Given the description of an element on the screen output the (x, y) to click on. 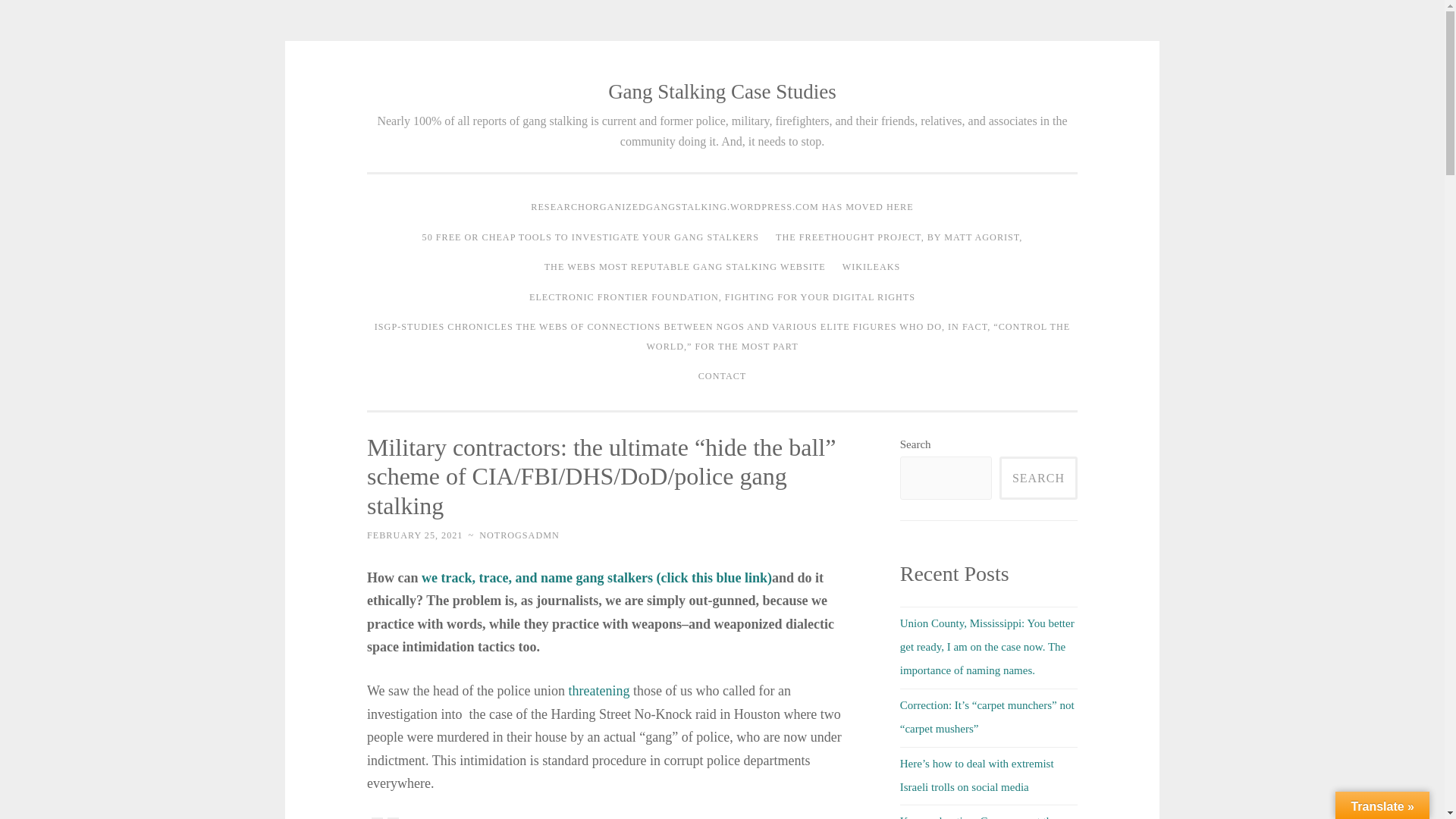
THE WEBS MOST REPUTABLE GANG STALKING WEBSITE (684, 267)
NOTROGSADMN (519, 534)
threatening (597, 690)
CONTACT (722, 376)
RESEARCHORGANIZEDGANGSTALKING.WORDPRESS.COM HAS MOVED HERE (722, 207)
FEBRUARY 25, 2021 (414, 534)
WIKILEAKS (871, 267)
THE FREETHOUGHT PROJECT, BY MATT AGORIST, (898, 237)
50 FREE OR CHEAP TOOLS TO INVESTIGATE YOUR GANG STALKERS (589, 237)
Gang Stalking Case Studies (721, 91)
